Given the description of an element on the screen output the (x, y) to click on. 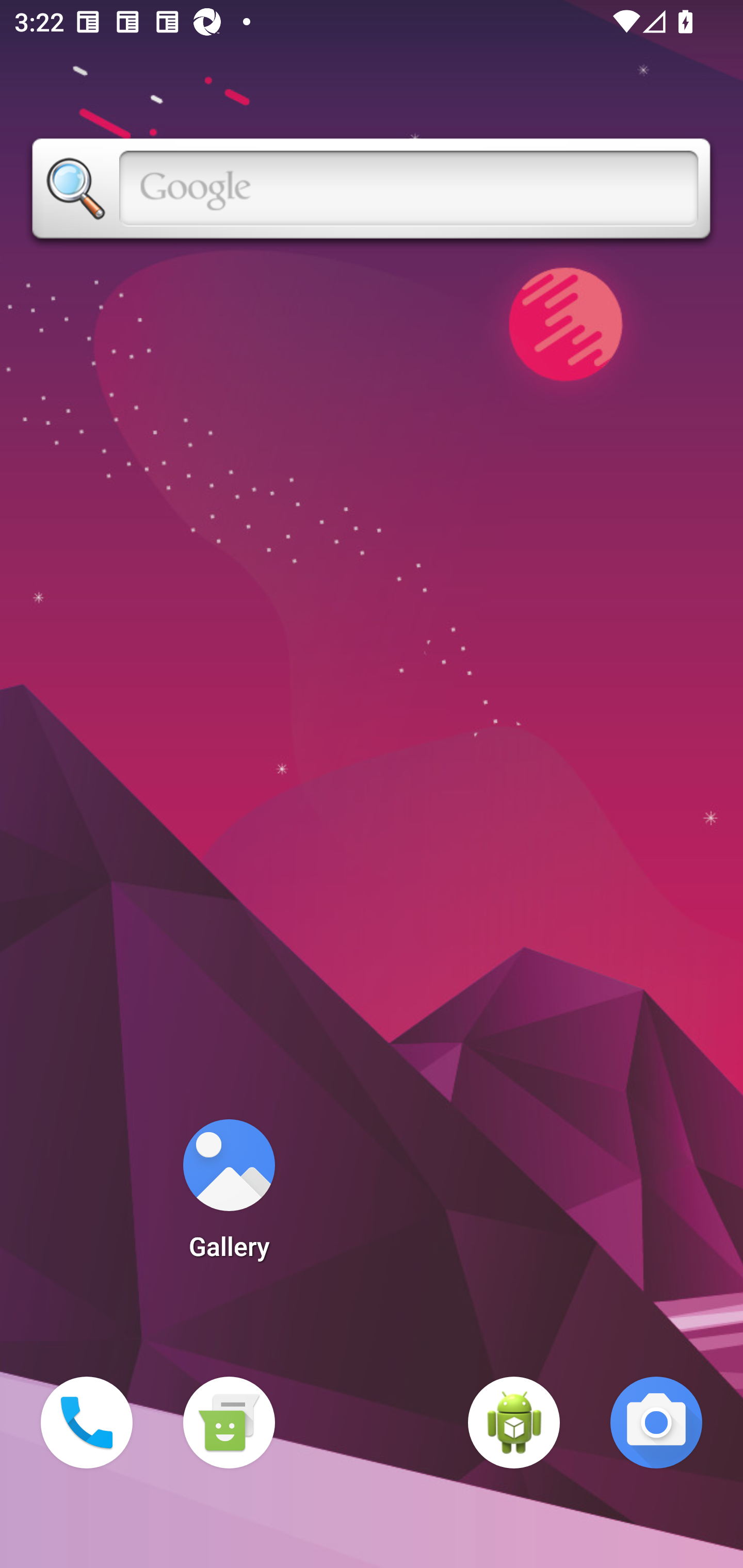
Gallery (228, 1195)
Phone (86, 1422)
Messaging (228, 1422)
WebView Browser Tester (513, 1422)
Camera (656, 1422)
